Given the description of an element on the screen output the (x, y) to click on. 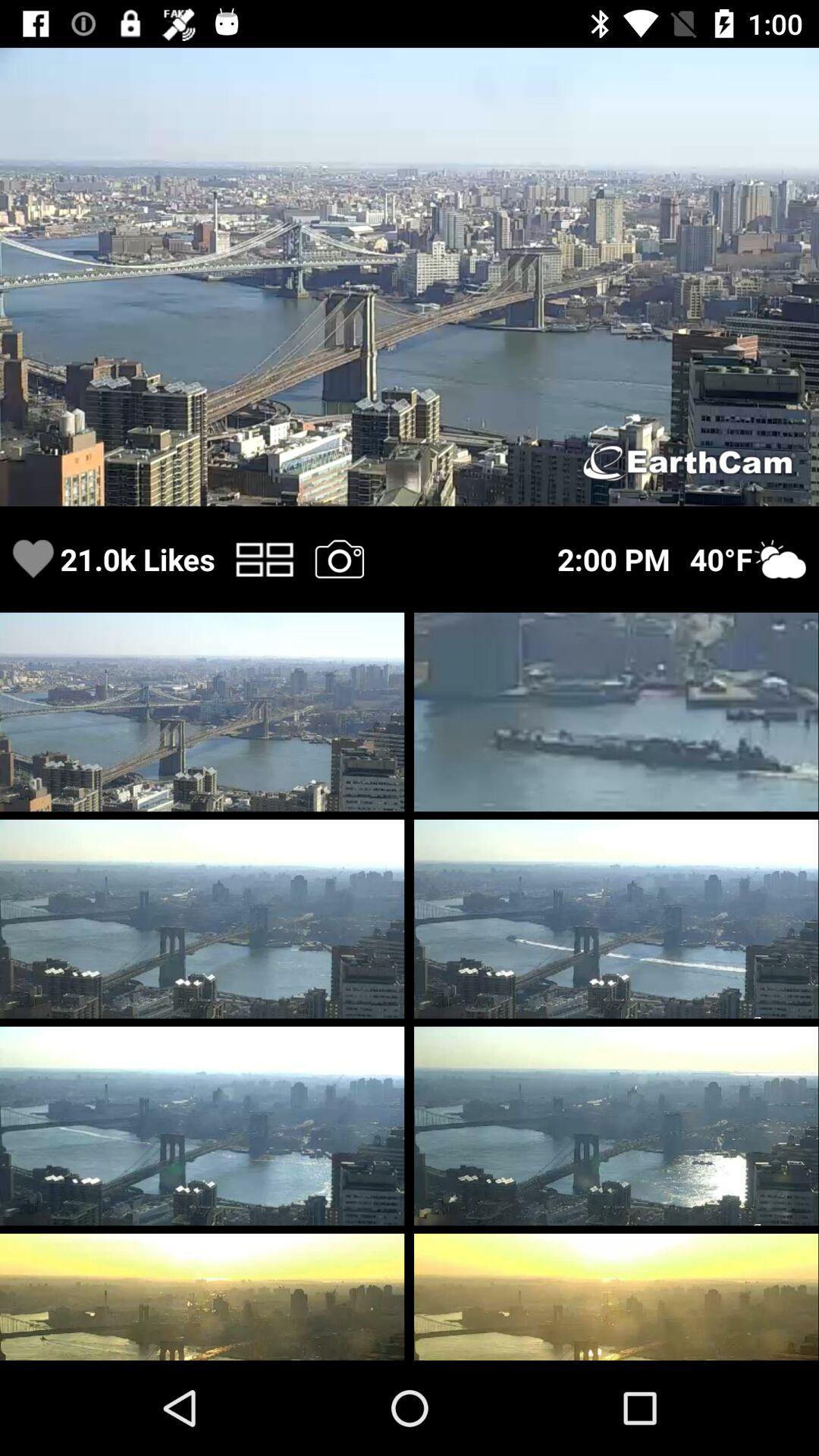
like (33, 559)
